Given the description of an element on the screen output the (x, y) to click on. 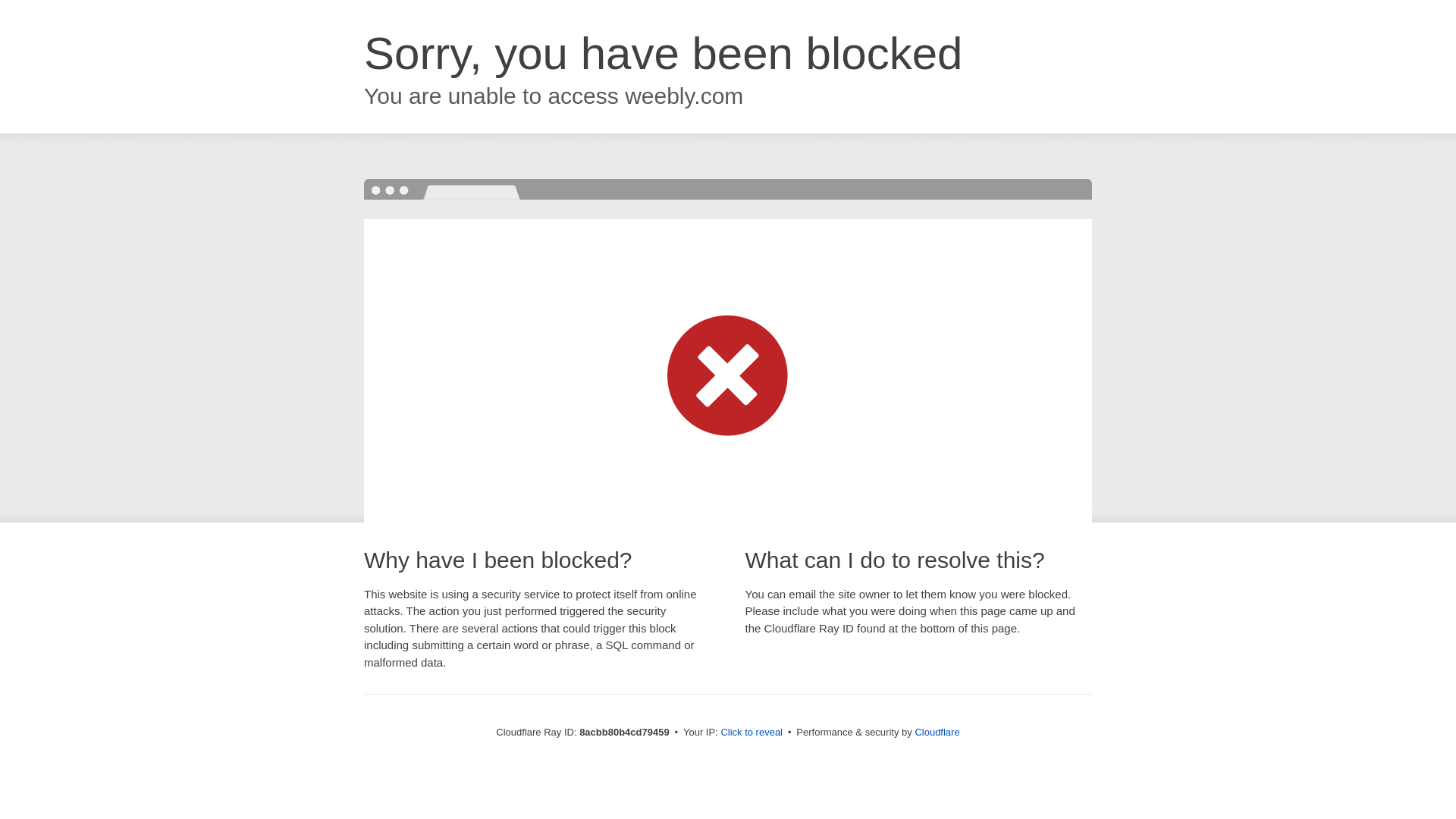
Click to reveal (751, 732)
Cloudflare (936, 731)
